Given the description of an element on the screen output the (x, y) to click on. 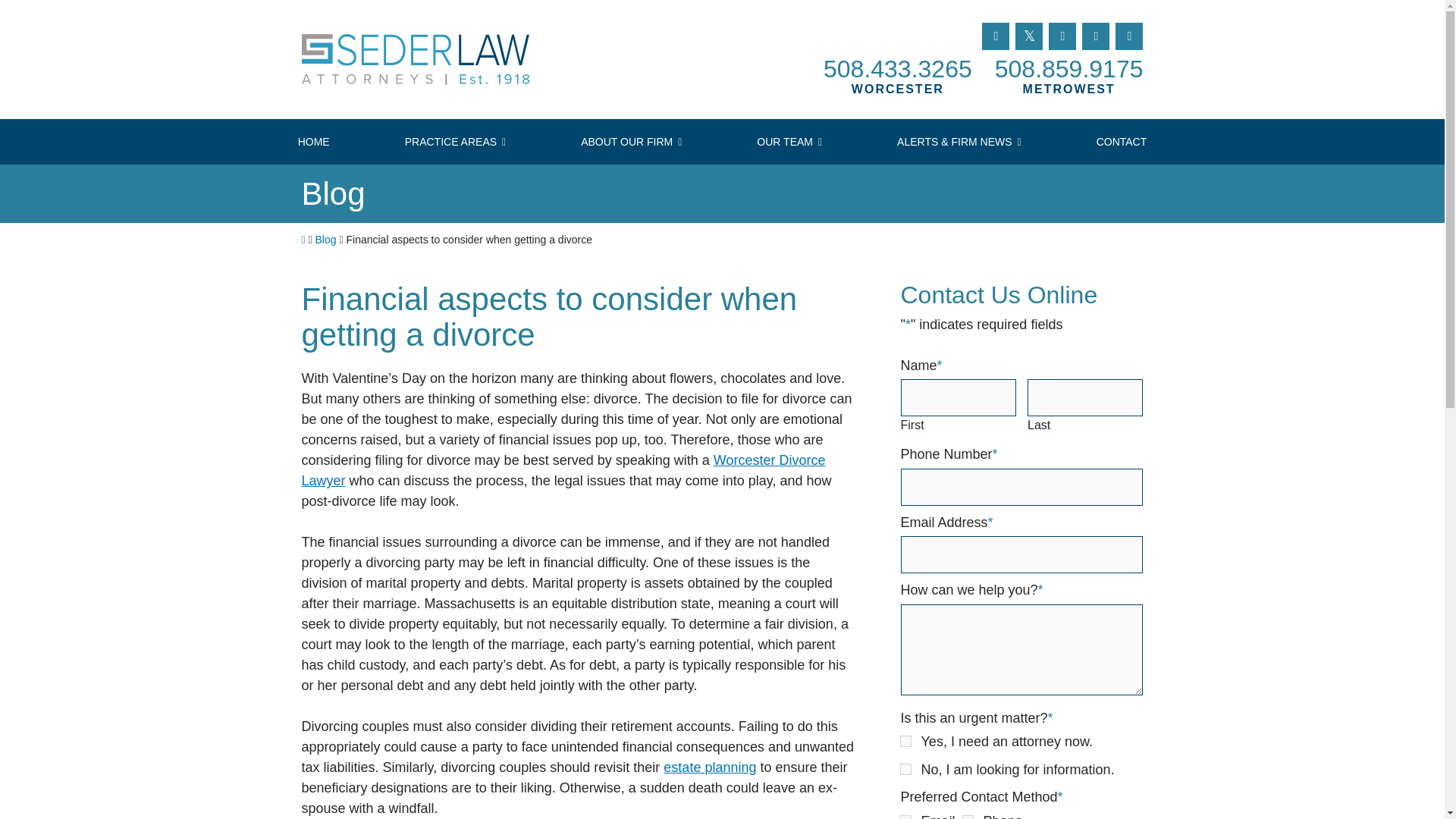
Yes, I need an attorney now. (898, 68)
Return home (903, 740)
HOME (434, 59)
View our profile on Facebook, opens in a new window (312, 141)
View our channel on Youtube, opens in a new window (995, 35)
Phone (1095, 35)
View our firm profile on LinkedIn, opens in a new window (965, 816)
View our profile on Instagram, opens in a new window (1068, 68)
View our feed on Twitter, opens in a new window (1061, 35)
No, I am looking for information. (1128, 35)
Email (1028, 35)
PRACTICE AREAS (903, 768)
